Given the description of an element on the screen output the (x, y) to click on. 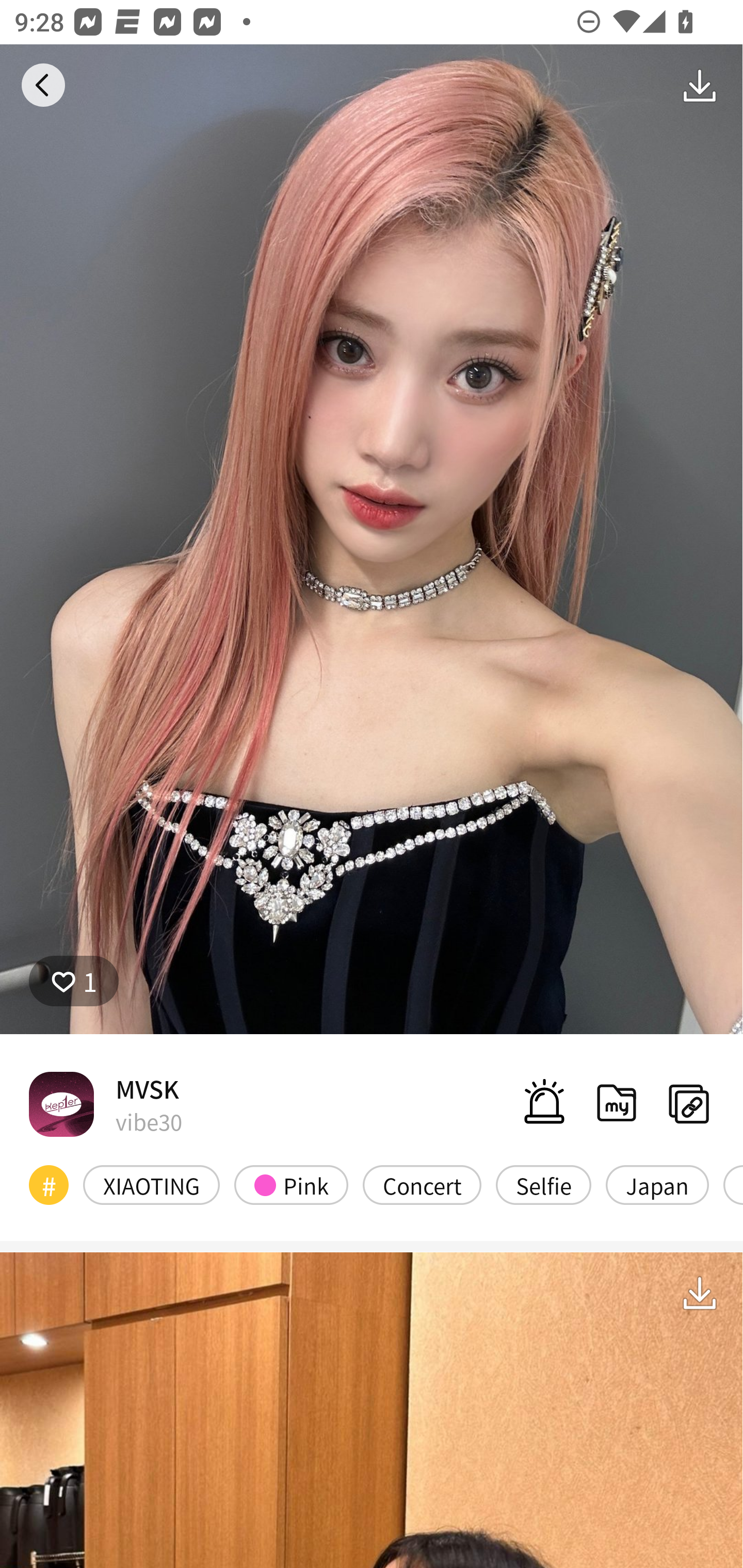
1 (73, 980)
MVSK vibe30 (105, 1103)
XIAOTING (151, 1184)
Pink (291, 1184)
Concert (421, 1184)
Selfie (543, 1184)
Japan (656, 1184)
